Given the description of an element on the screen output the (x, y) to click on. 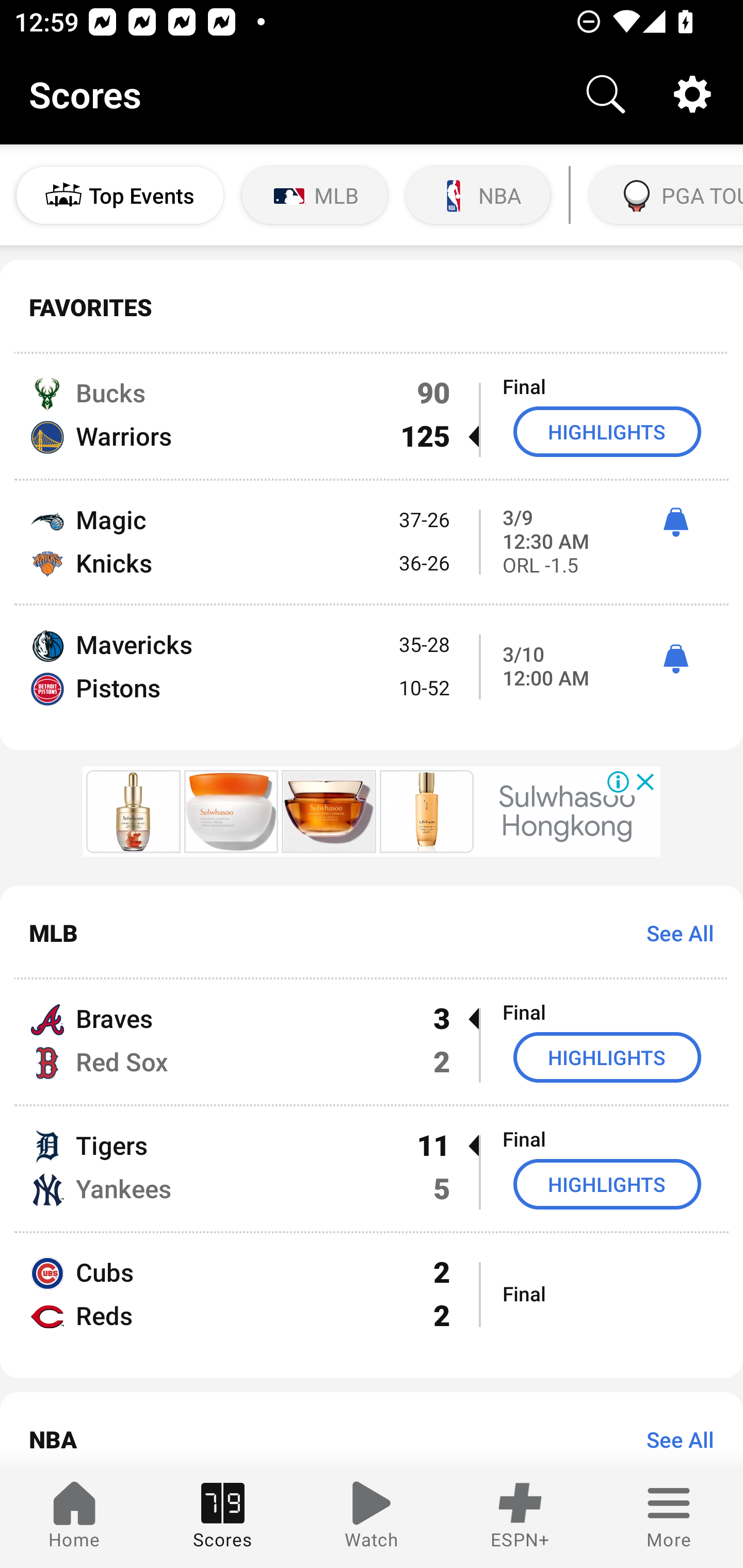
Search (605, 93)
Settings (692, 93)
 Top Events (119, 194)
MLB (314, 194)
NBA (477, 194)
PGA TOUR (664, 194)
FAVORITES (371, 307)
Bucks 90 Final Warriors 125  HIGHLIGHTS (371, 416)
HIGHLIGHTS (607, 431)
Magic 37-26 Knicks 36-26 3/9 12:30 AM ì ORL -1.5 (371, 542)
ì (675, 522)
Mavericks 35-28 Pistons 10-52 3/10 12:00 AM ì (371, 677)
ì (675, 658)
Sulwhasoo Hongkong Sulwhasoo
Hongkong (566, 811)
MLB See All (371, 932)
See All (673, 932)
Braves 3  Final Red Sox 2 HIGHLIGHTS (371, 1041)
HIGHLIGHTS (607, 1056)
Tigers 11  Final Yankees 5 HIGHLIGHTS (371, 1168)
HIGHLIGHTS (607, 1183)
Cubs 2 Reds 2 Final (371, 1306)
NBA See All (371, 1429)
See All (673, 1439)
Home (74, 1517)
Watch (371, 1517)
ESPN+ (519, 1517)
More (668, 1517)
